Given the description of an element on the screen output the (x, y) to click on. 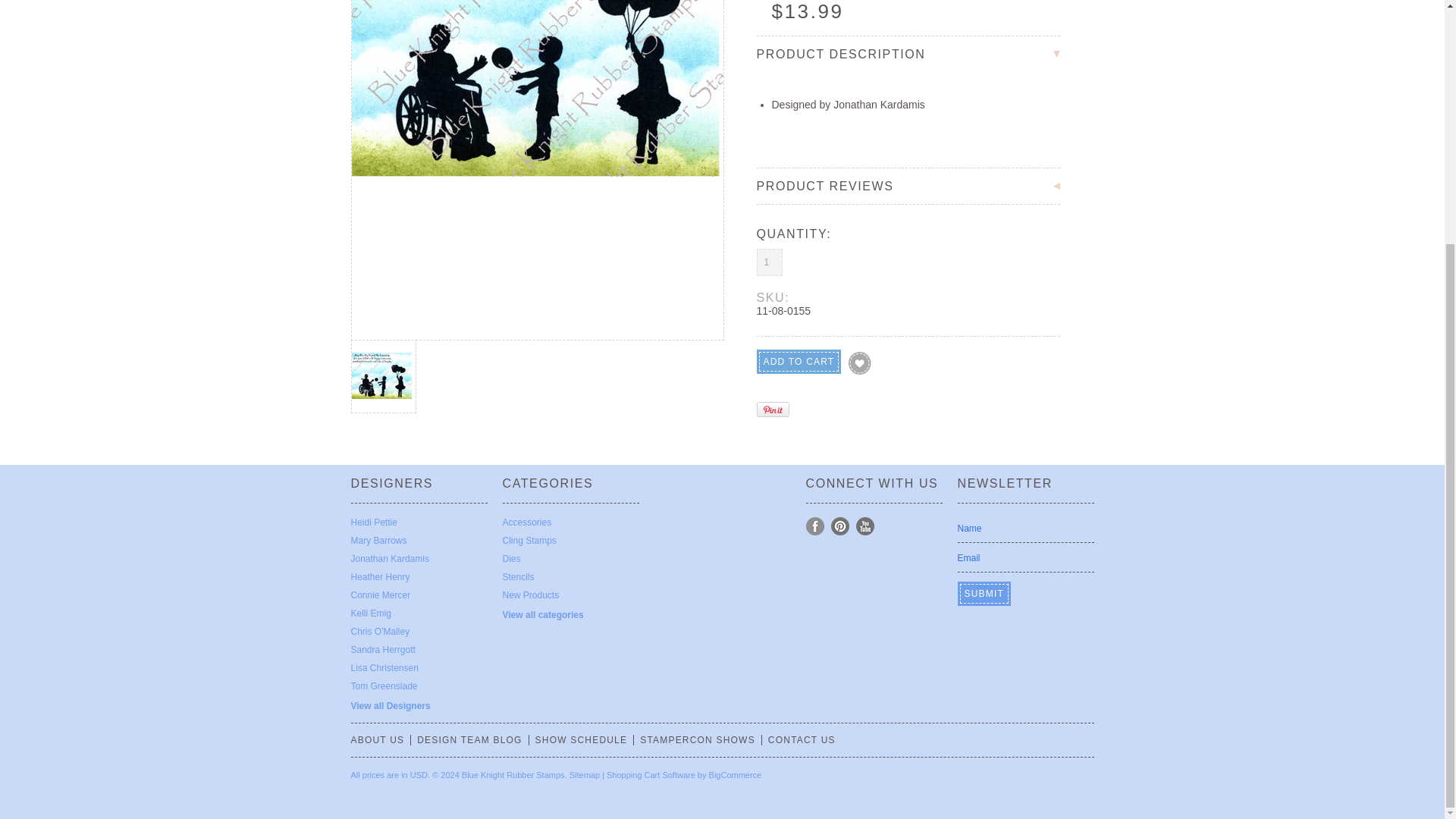
Pinterest (840, 526)
YouTube (865, 526)
US Dollars (419, 774)
Facebook (814, 526)
Image 1 (382, 368)
Submit (984, 593)
Add to Wishlist (859, 363)
Add To Cart (798, 361)
Add to Wishlist (859, 363)
Image 1 (537, 88)
